Given the description of an element on the screen output the (x, y) to click on. 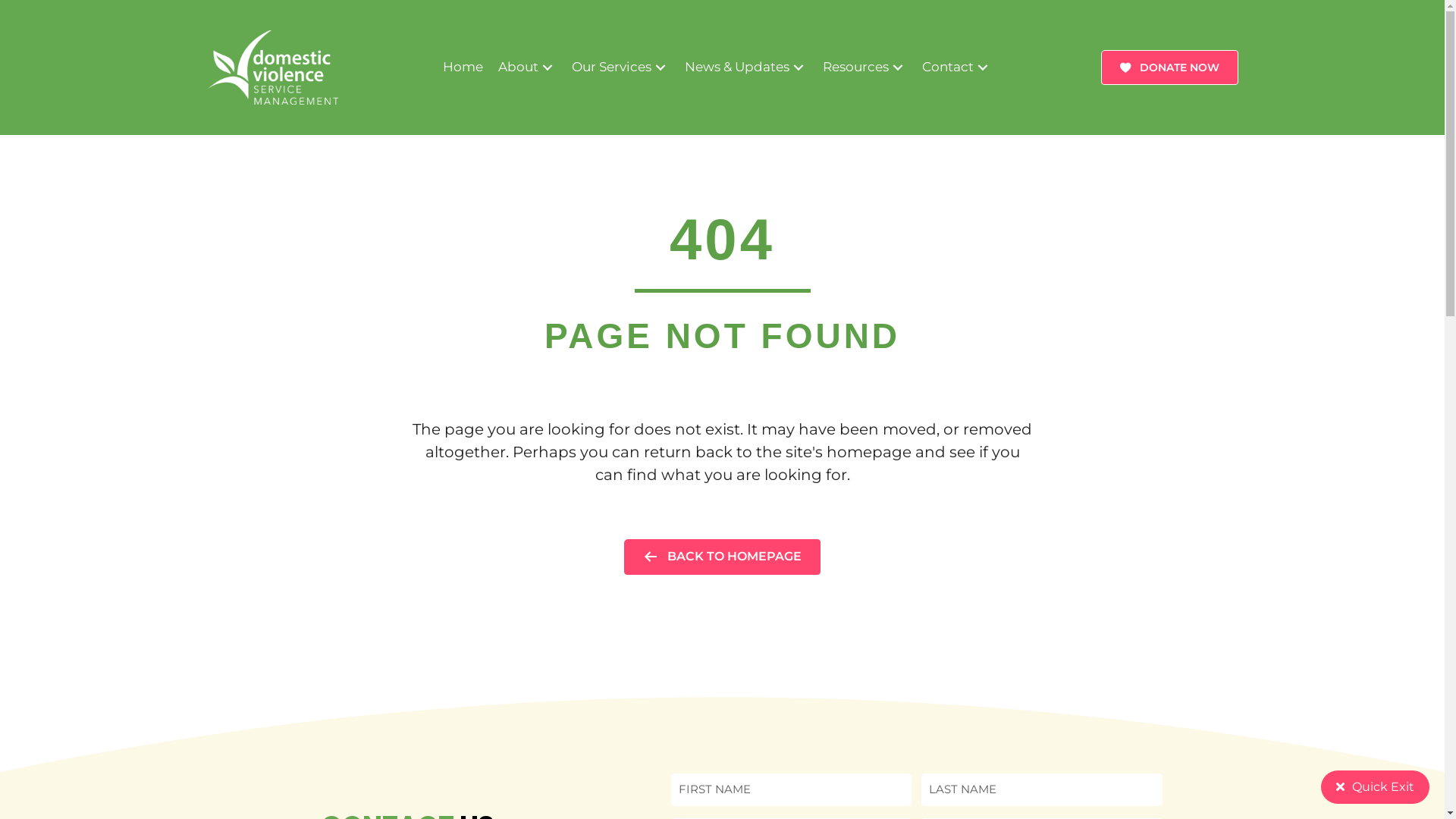
BACK TO HOMEPAGE Element type: text (722, 556)
Home Element type: text (462, 67)
Contact Element type: text (956, 67)
Resources Element type: text (863, 67)
Our Services Element type: text (620, 67)
About Element type: text (526, 67)
DVSM-logo-white Element type: hover (272, 67)
News & Updates Element type: text (745, 67)
DONATE NOW Element type: text (1169, 67)
Quick Exit Element type: text (1375, 786)
